Given the description of an element on the screen output the (x, y) to click on. 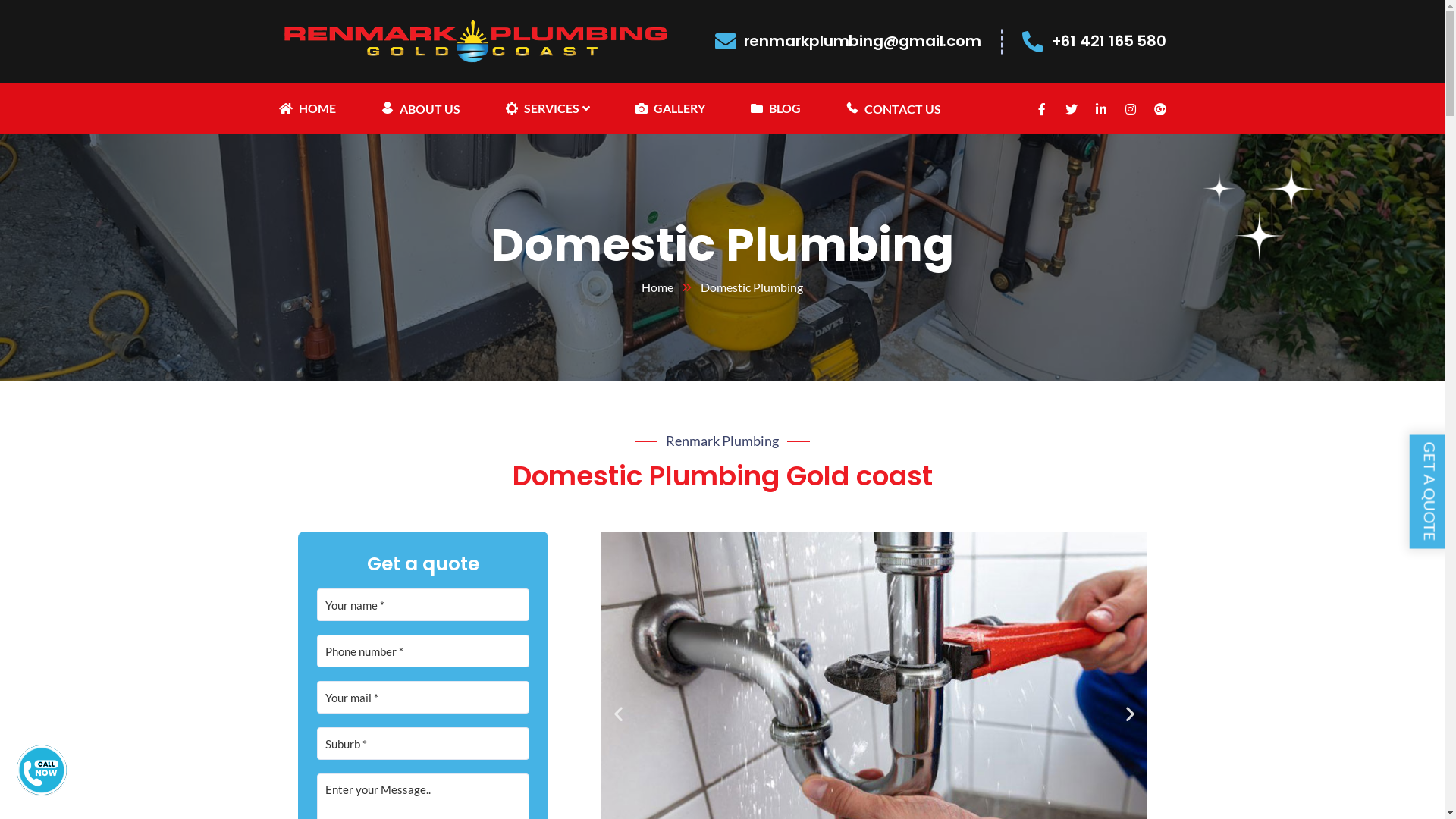
HOME Element type: text (307, 107)
CONTACT US Element type: text (893, 108)
Home Element type: text (670, 286)
GALLERY Element type: text (670, 107)
SERVICES Element type: text (547, 108)
Renmark Plumbing Gold Coast Element type: hover (475, 39)
BLOG Element type: text (775, 107)
ABOUT US Element type: text (419, 108)
